Given the description of an element on the screen output the (x, y) to click on. 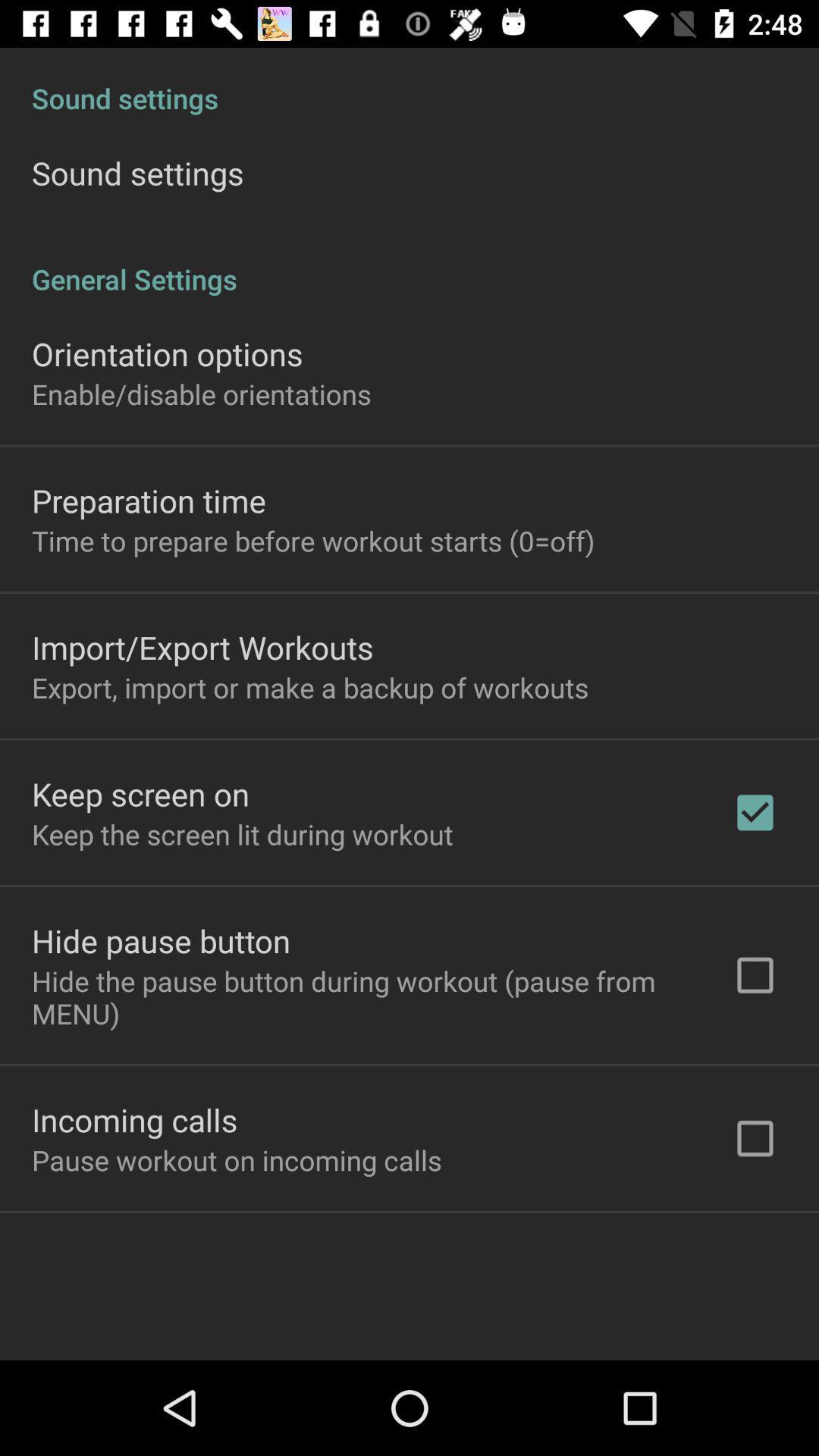
scroll until the orientation options (167, 353)
